Given the description of an element on the screen output the (x, y) to click on. 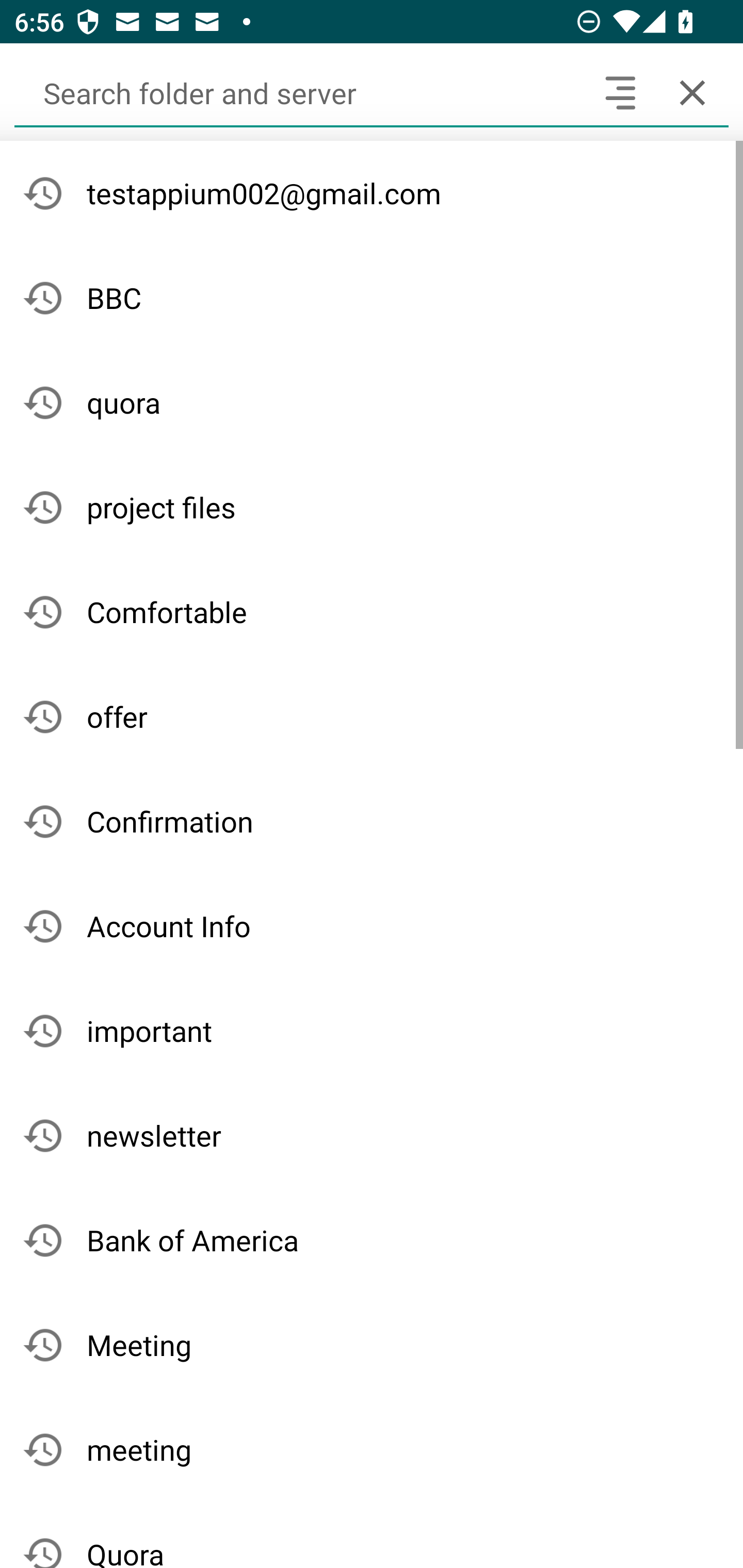
   Search folder and server (298, 92)
Search headers and text (619, 92)
Cancel (692, 92)
